Given the description of an element on the screen output the (x, y) to click on. 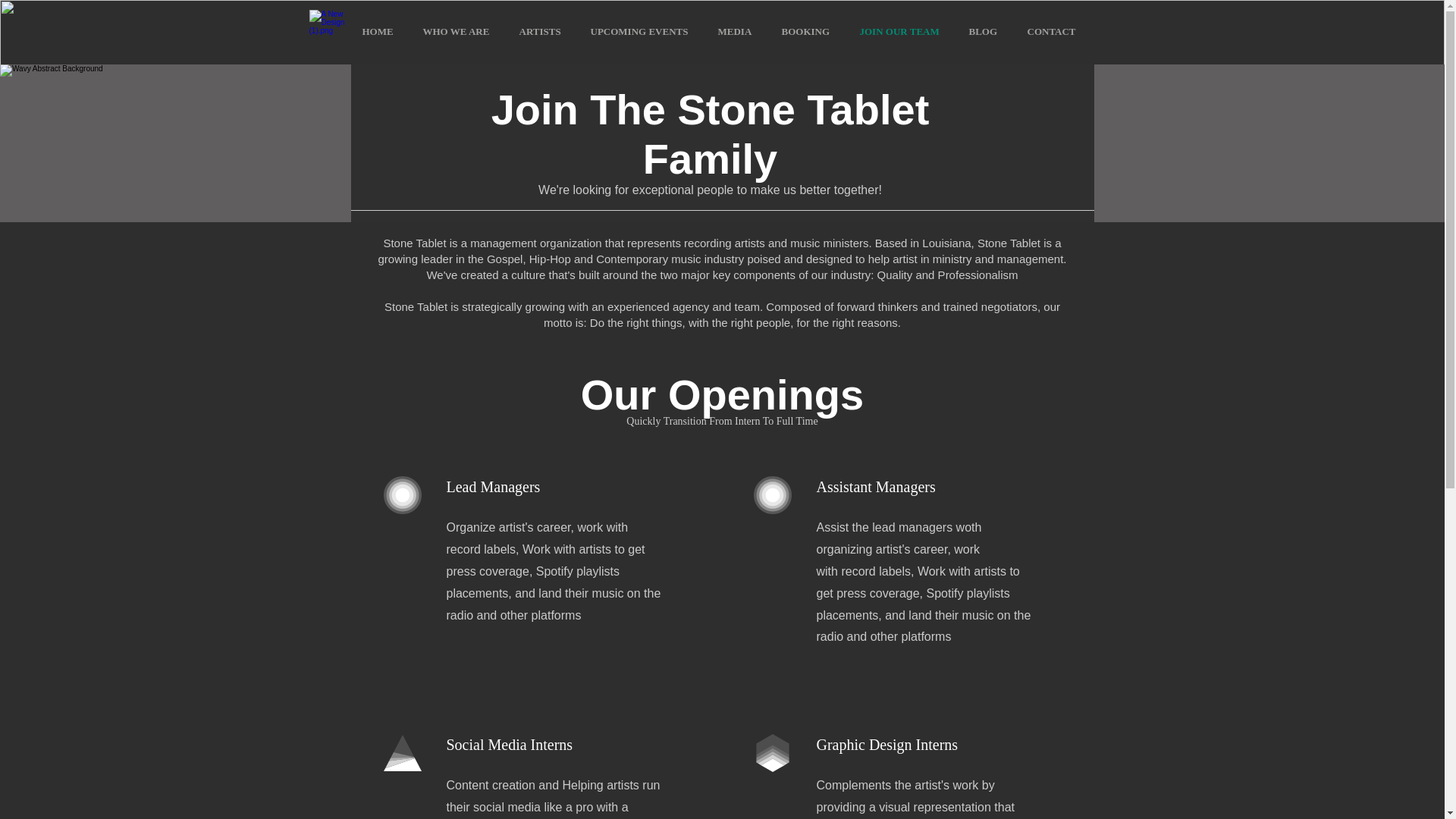
BLOG (985, 31)
JOIN OUR TEAM (901, 31)
WHO WE ARE (458, 31)
MEDIA (738, 31)
HOME (380, 31)
CONTACT (1055, 31)
ARTISTS (543, 31)
UPCOMING EVENTS (642, 31)
